Given the description of an element on the screen output the (x, y) to click on. 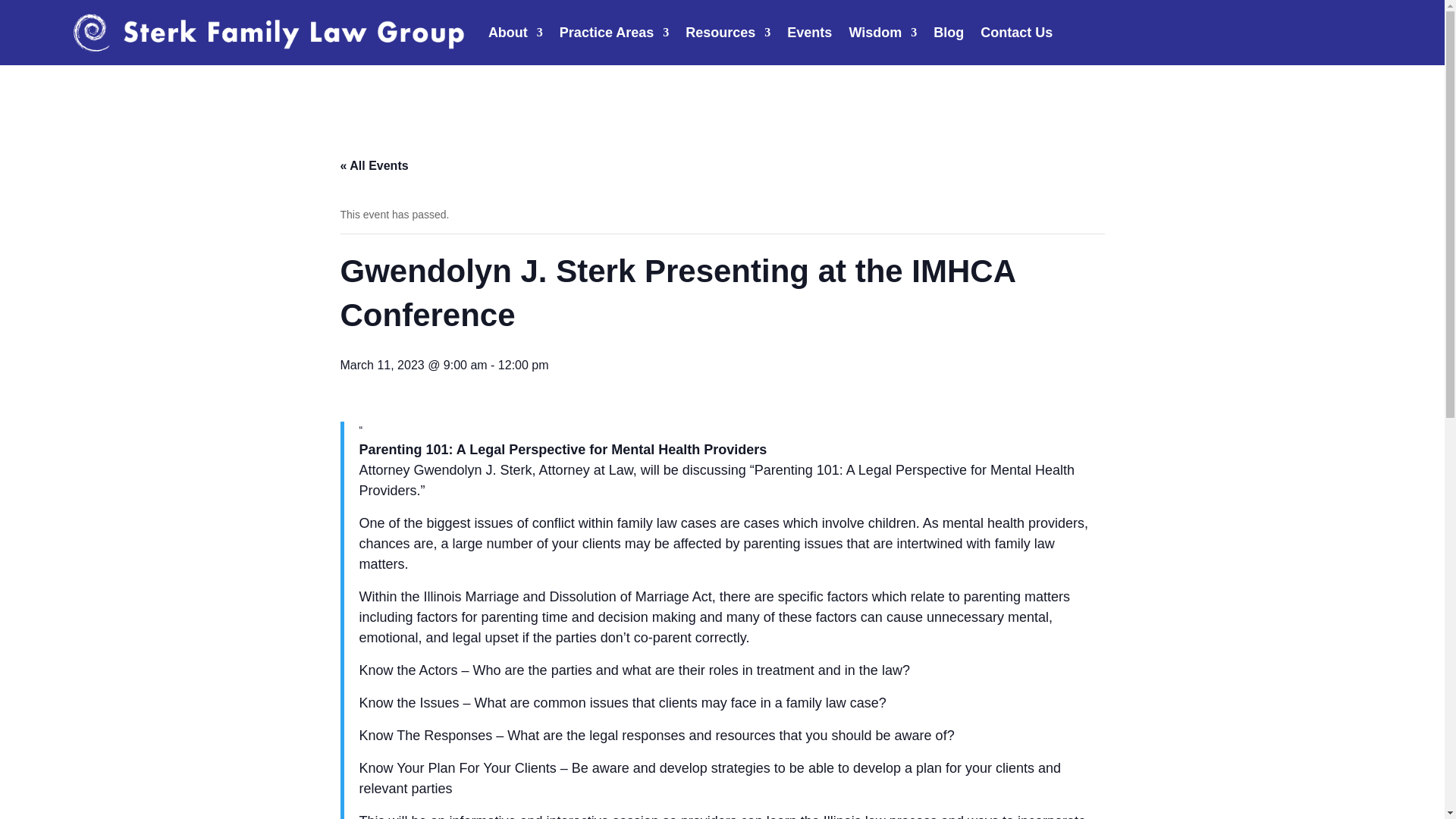
Wisdom (882, 32)
About (515, 32)
Practice Areas (613, 32)
Contact Us (1015, 32)
Resources (727, 32)
